Given the description of an element on the screen output the (x, y) to click on. 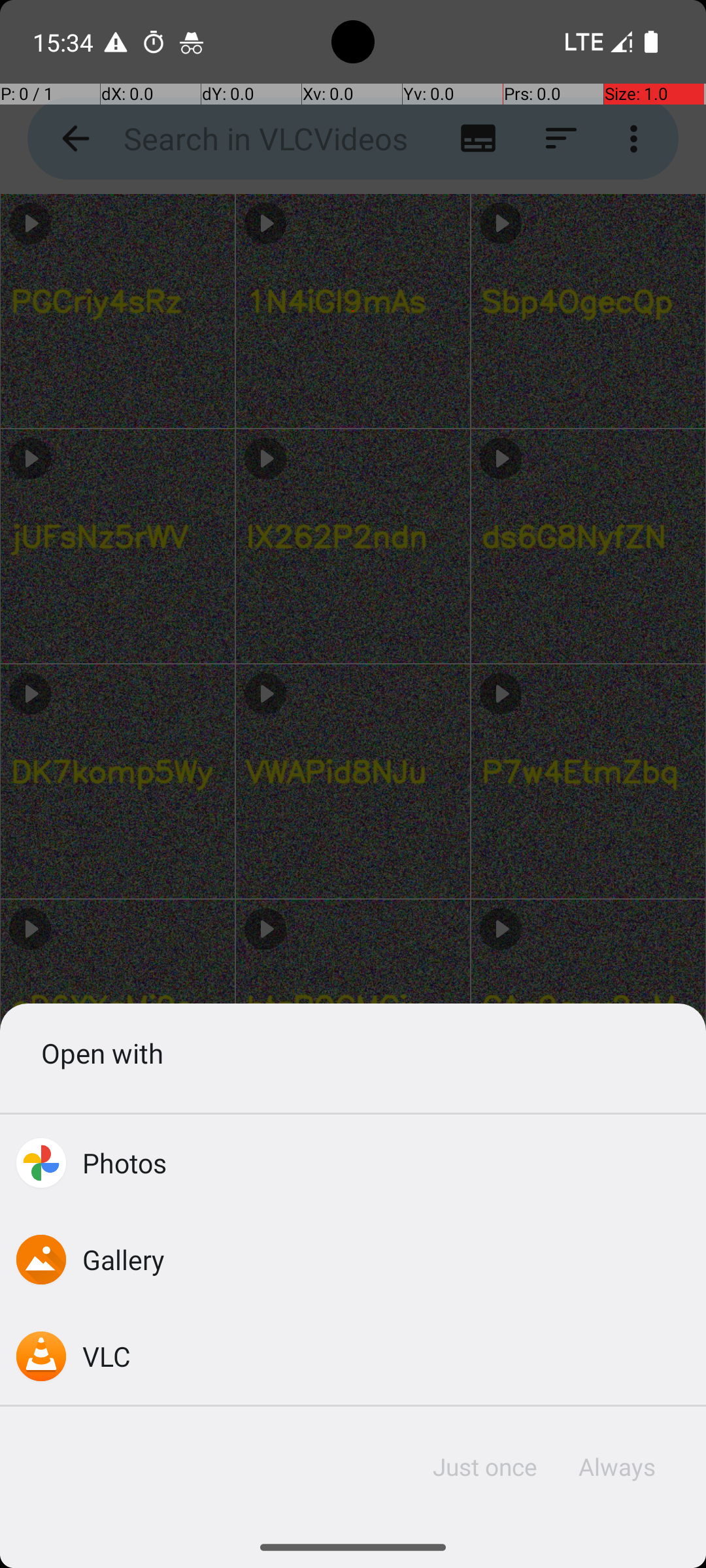
Open with Element type: android.widget.TextView (352, 1052)
Just once Element type: android.widget.Button (484, 1466)
